Given the description of an element on the screen output the (x, y) to click on. 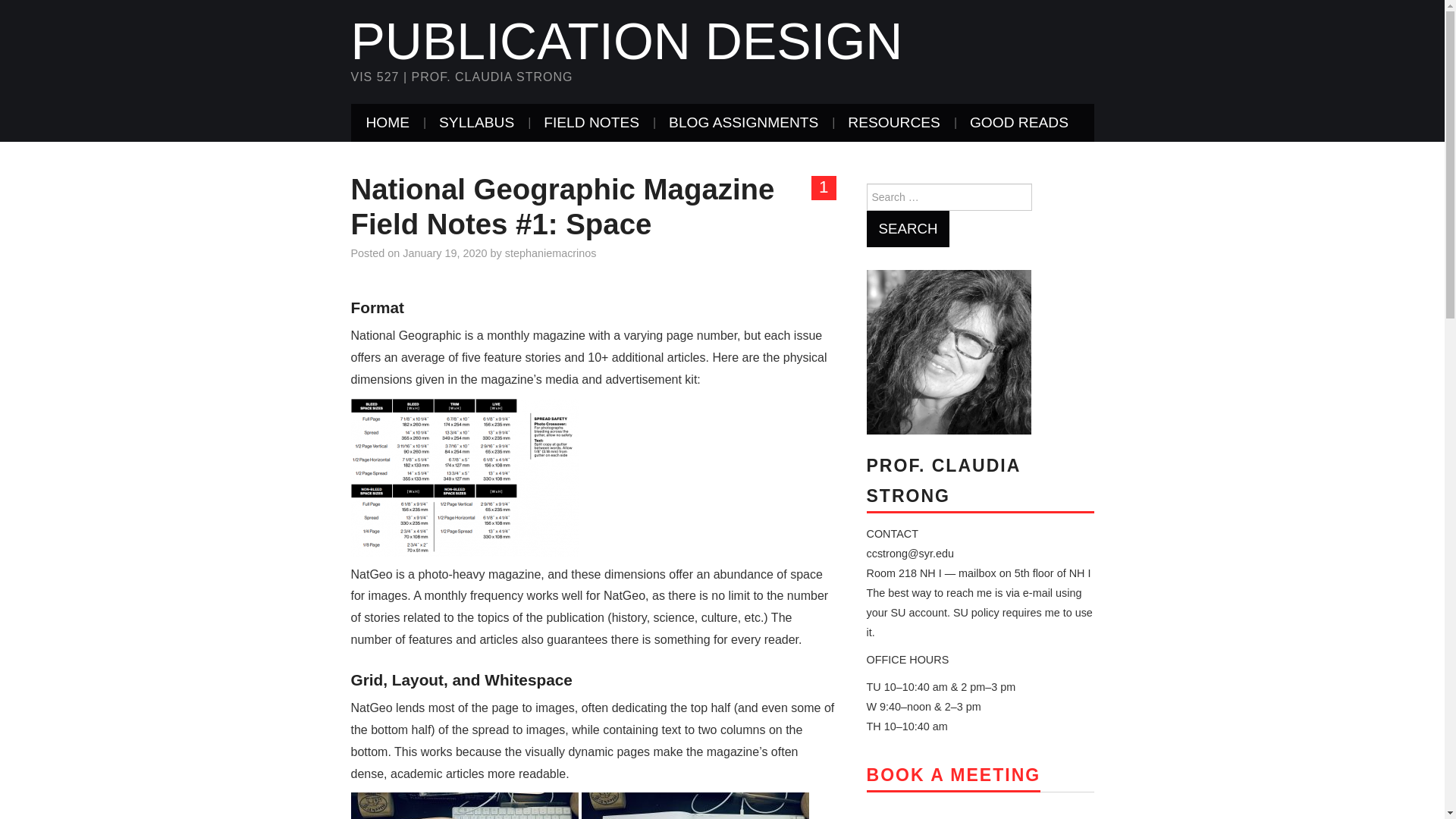
SYLLABUS (476, 122)
View all posts by stephaniemacrinos (550, 253)
PUBLICATION DESIGN (626, 40)
RESOURCES (893, 122)
1 (822, 187)
FIELD NOTES (590, 122)
BLOG ASSIGNMENTS (742, 122)
Search (907, 228)
Search (907, 228)
HOME (387, 122)
Search for: (948, 196)
January 19, 2020 (444, 253)
6:08 pm (444, 253)
GOOD READS (1019, 122)
Search (907, 228)
